Given the description of an element on the screen output the (x, y) to click on. 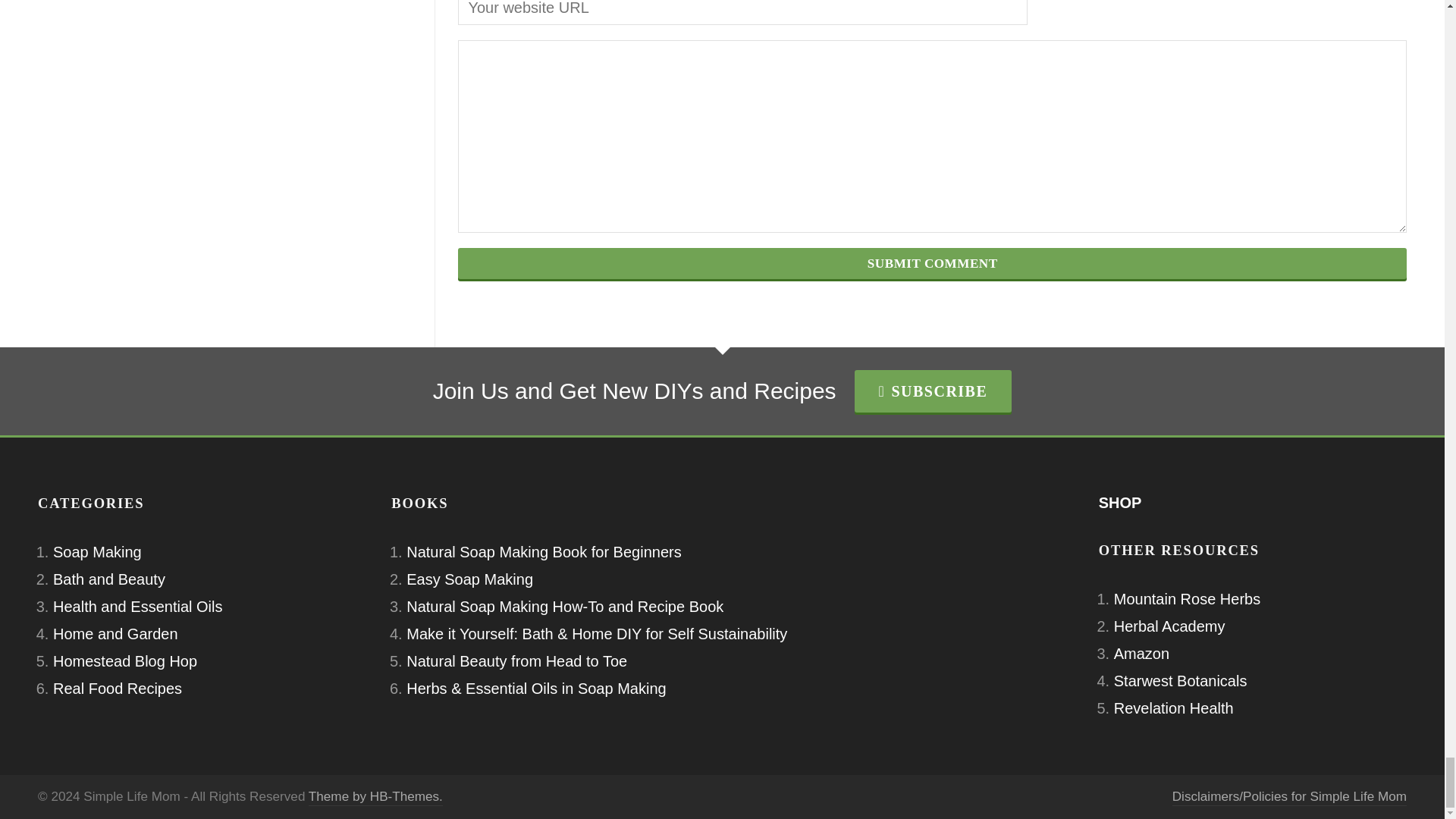
Submit Comment (932, 263)
